Given the description of an element on the screen output the (x, y) to click on. 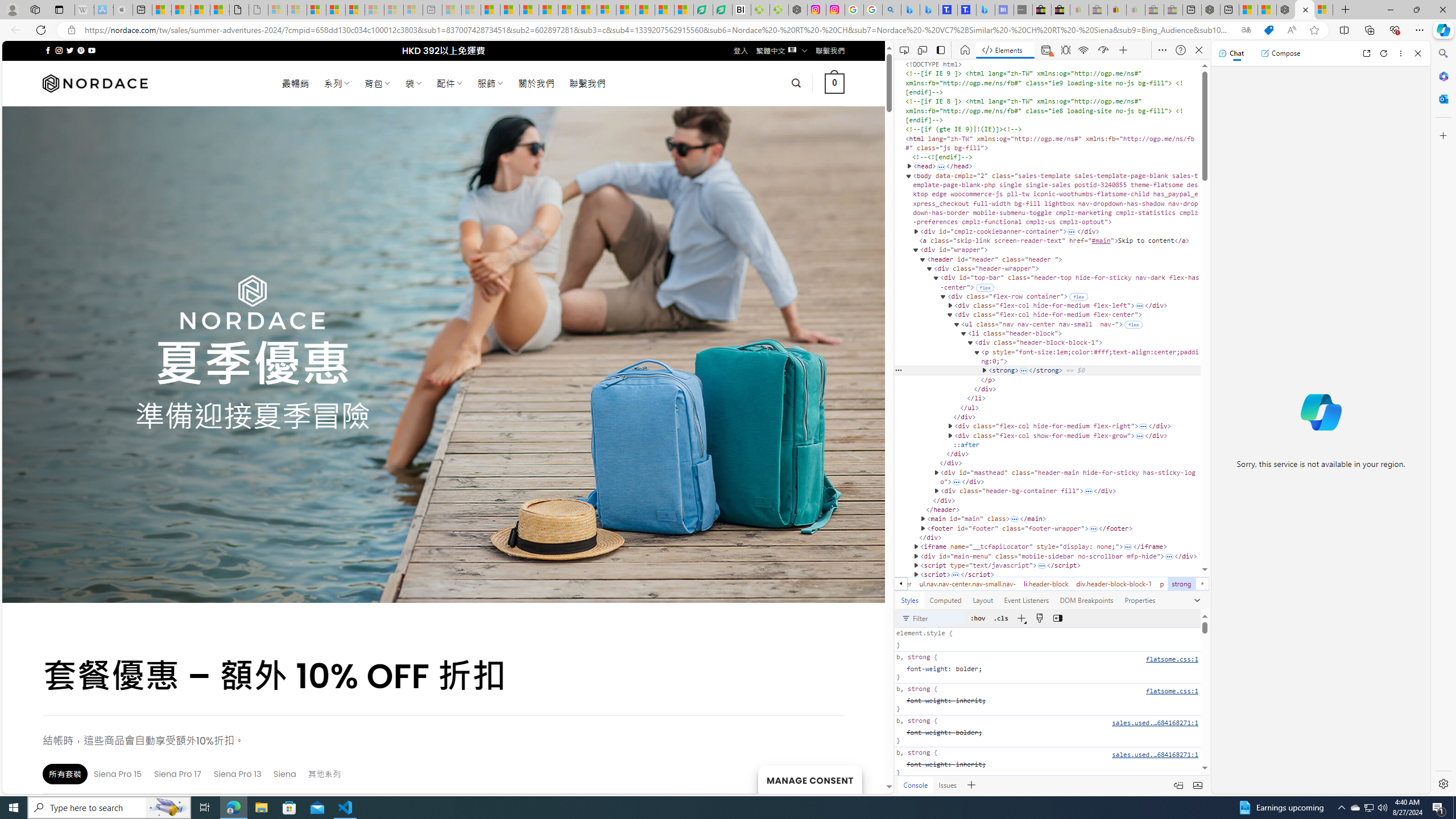
Sources (1064, 49)
strong (1181, 583)
Microsoft Bing Travel - Stays in Bangkok, Bangkok, Thailand (929, 9)
Outlook (1442, 98)
li.header-block (1046, 583)
Scroll right (1201, 583)
Microsoft Bing Travel - Shangri-La Hotel Bangkok (985, 9)
Settings (1442, 783)
div.flex-col.hide-for-medium.flex-center (851, 583)
